Given the description of an element on the screen output the (x, y) to click on. 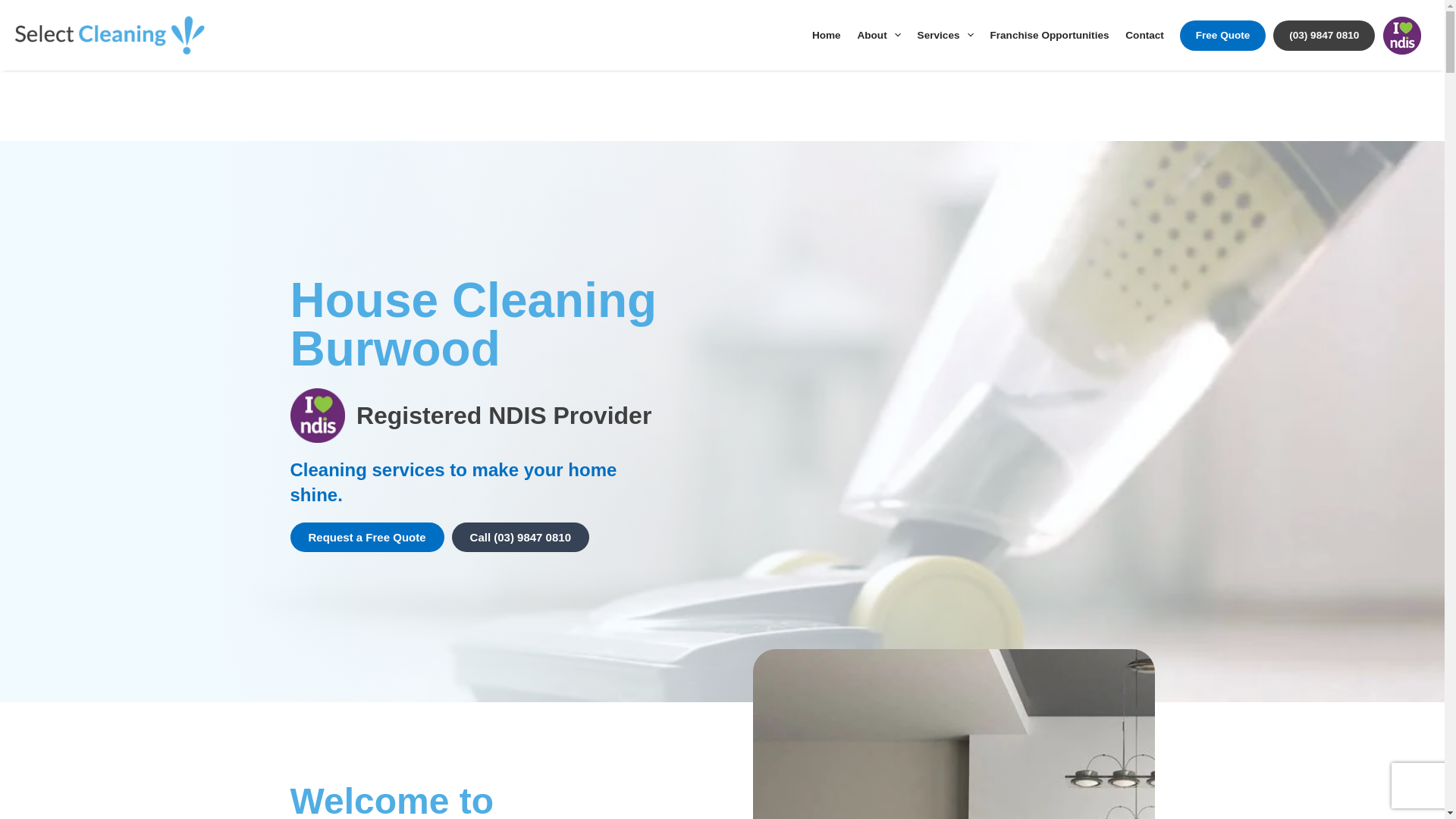
House Cleaning Burwood (953, 734)
Franchise Opportunities (1049, 34)
Free Quote (1223, 34)
About (878, 34)
Home (825, 34)
Contact (1144, 34)
Services (944, 34)
